Given the description of an element on the screen output the (x, y) to click on. 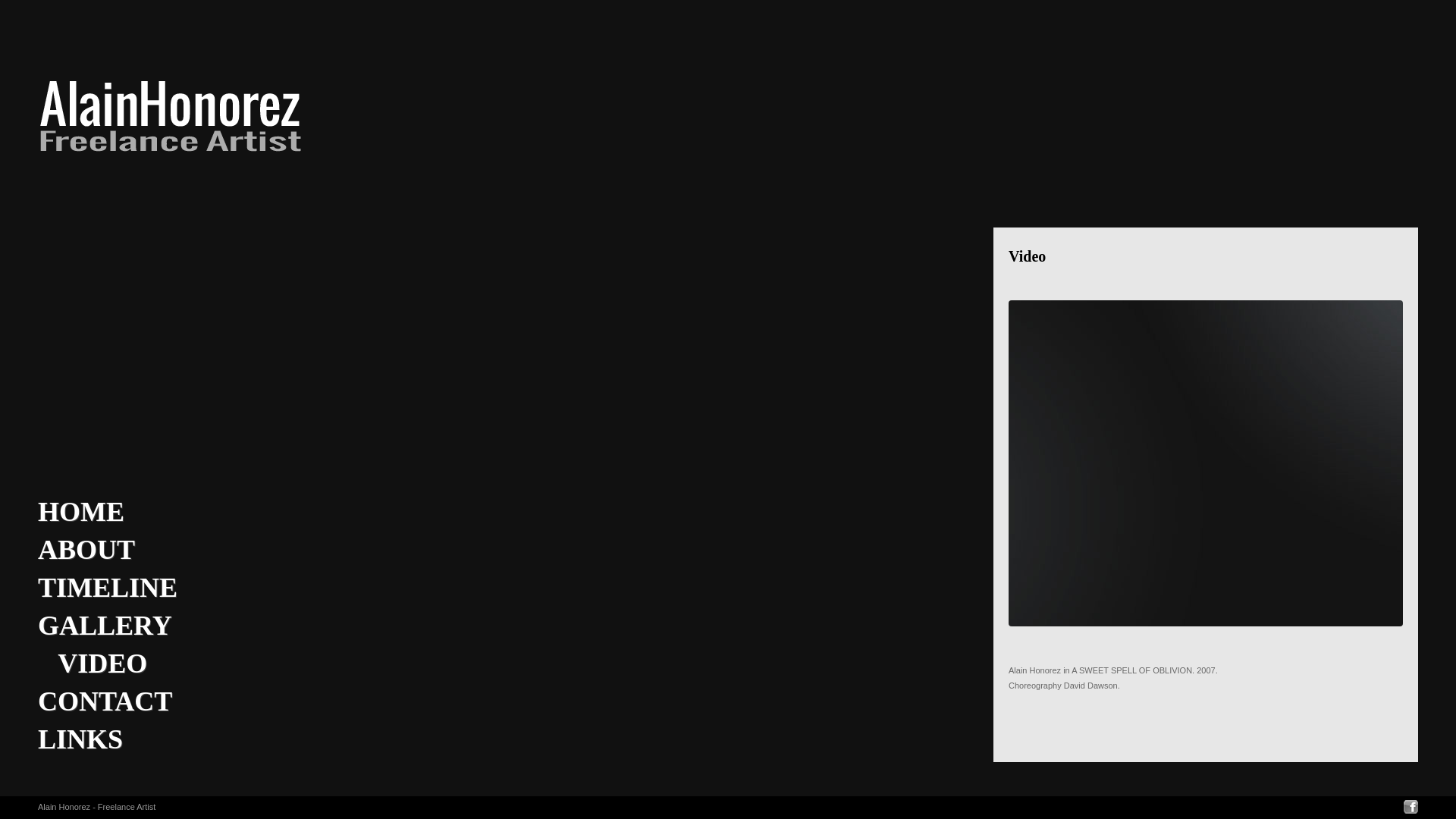
facebook Element type: text (1410, 806)
CONTACT Element type: text (104, 701)
ABOUT Element type: text (85, 549)
HOME Element type: text (80, 511)
LINKS Element type: text (79, 739)
TIMELINE Element type: text (107, 587)
JoomlaWorks AllVideos Player Element type: hover (1205, 463)
GALLERY Element type: text (104, 625)
Video Element type: text (1026, 255)
   VIDEO Element type: text (92, 663)
